Given the description of an element on the screen output the (x, y) to click on. 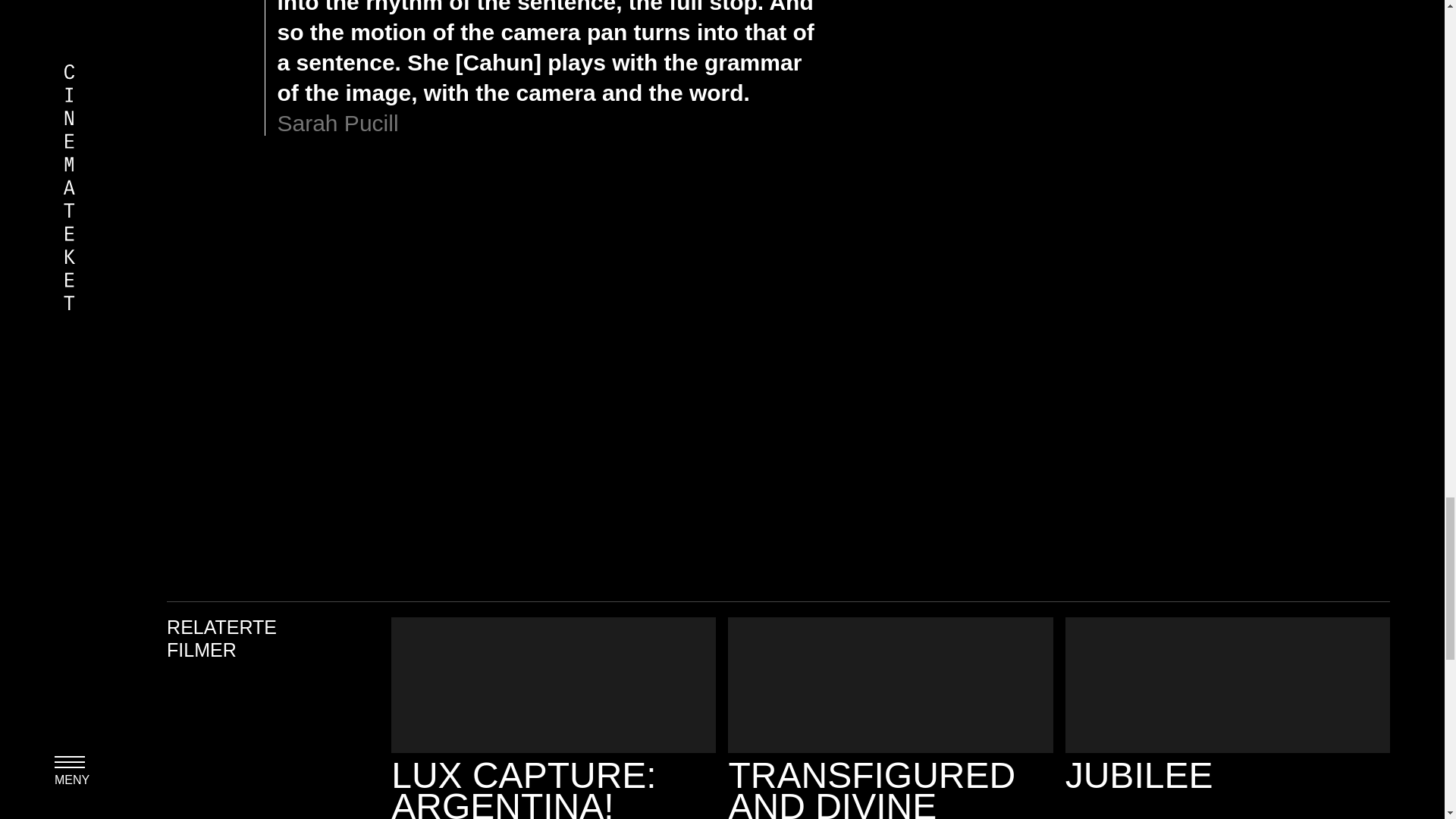
TRANSFIGURED AND DIVINE (890, 718)
LUX CAPTURE: ARGENTINA! (553, 718)
JUBILEE (1227, 704)
